Given the description of an element on the screen output the (x, y) to click on. 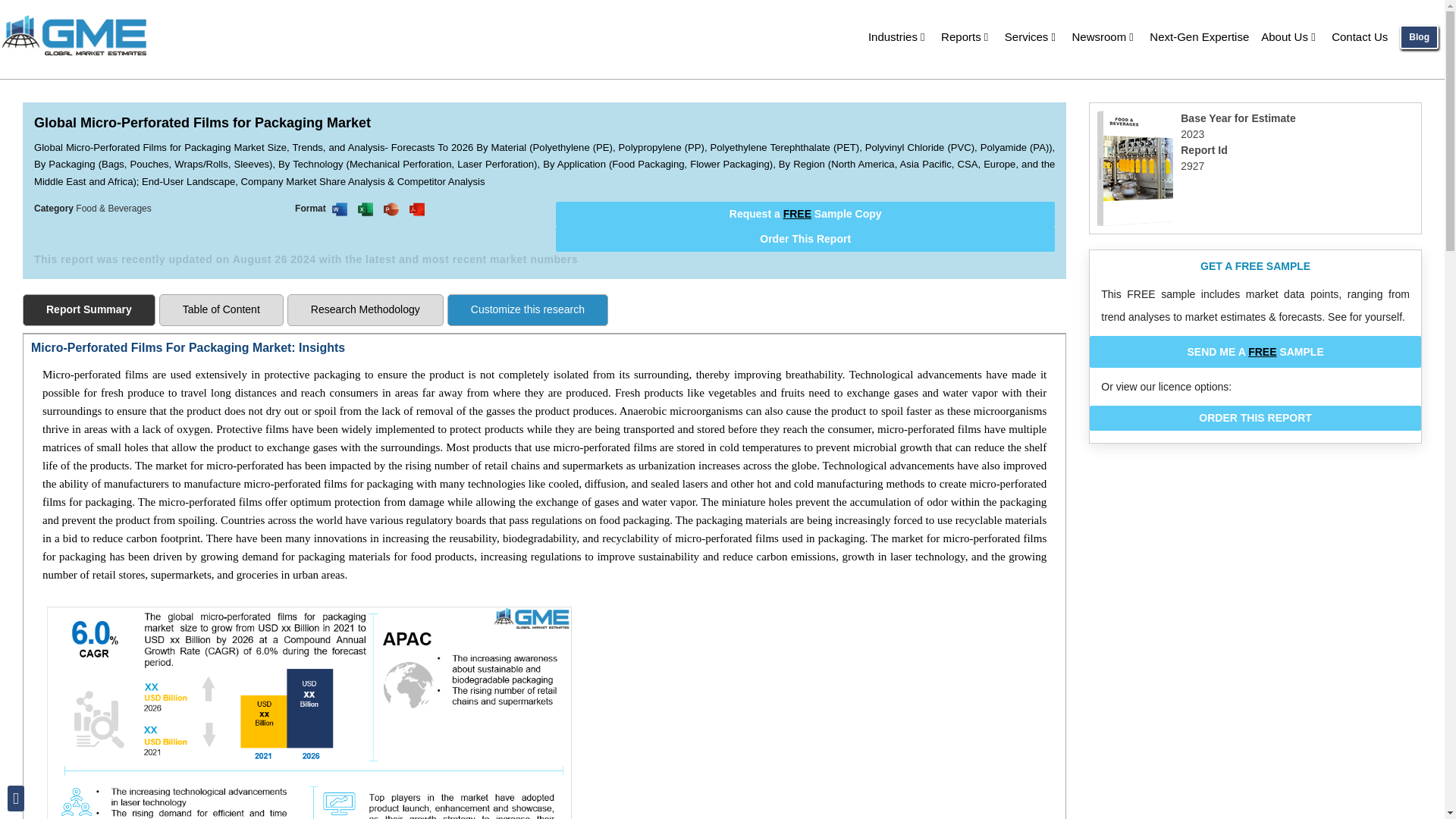
This report is available in PPT format (391, 209)
This report is available in PDF format (417, 209)
Industries (897, 37)
This report is available in EXCEL SHEET format (365, 209)
This report is available as WORD DOCUMENT (339, 209)
